Given the description of an element on the screen output the (x, y) to click on. 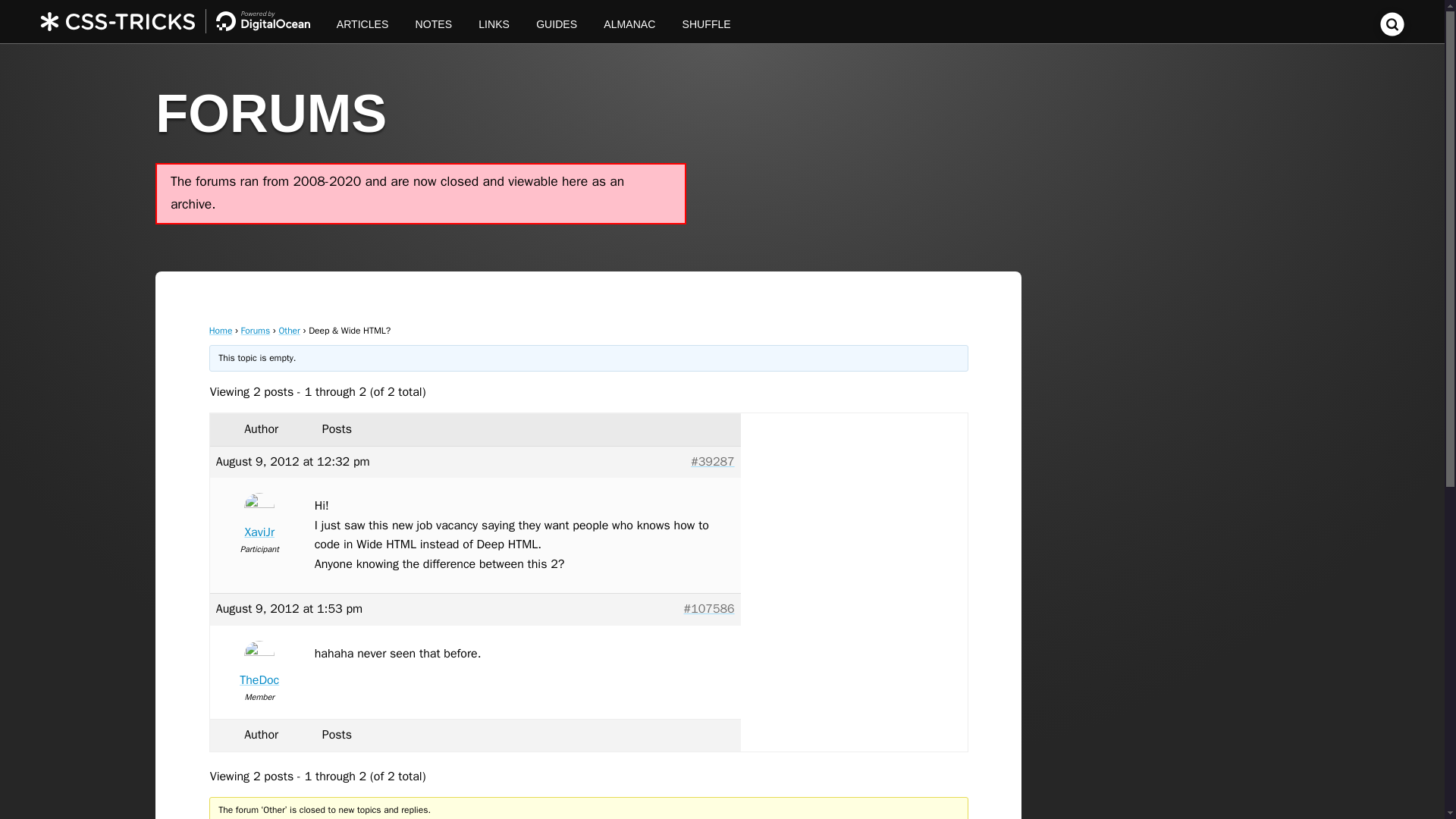
Home (220, 330)
Other (288, 330)
ARTICLES (362, 21)
Search (1392, 31)
SHUFFLE (706, 21)
TheDoc (258, 667)
NOTES (433, 21)
GUIDES (556, 21)
ALMANAC (629, 21)
XaviJr (258, 519)
